Given the description of an element on the screen output the (x, y) to click on. 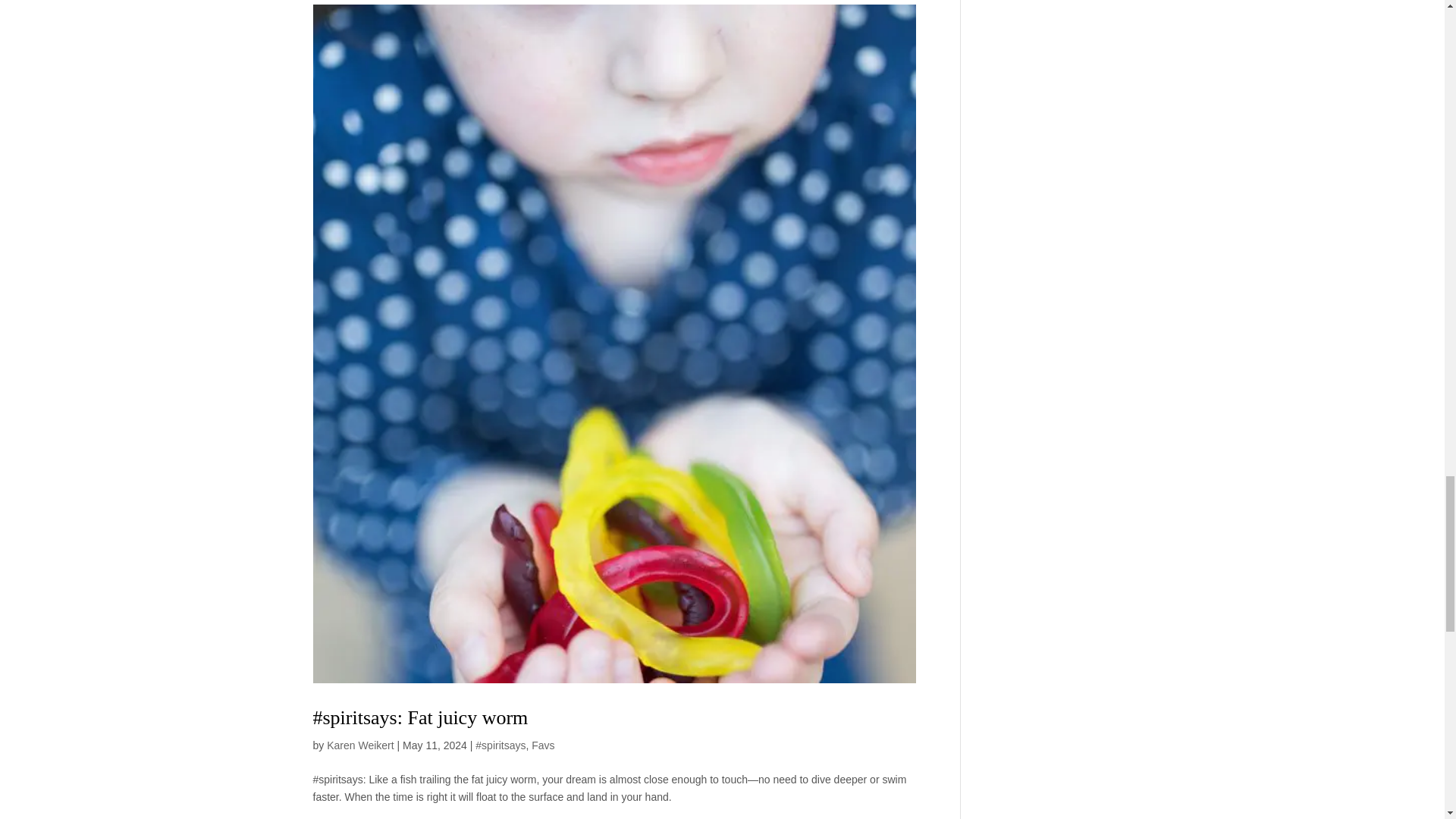
Posts by Karen Weikert (359, 745)
